Given the description of an element on the screen output the (x, y) to click on. 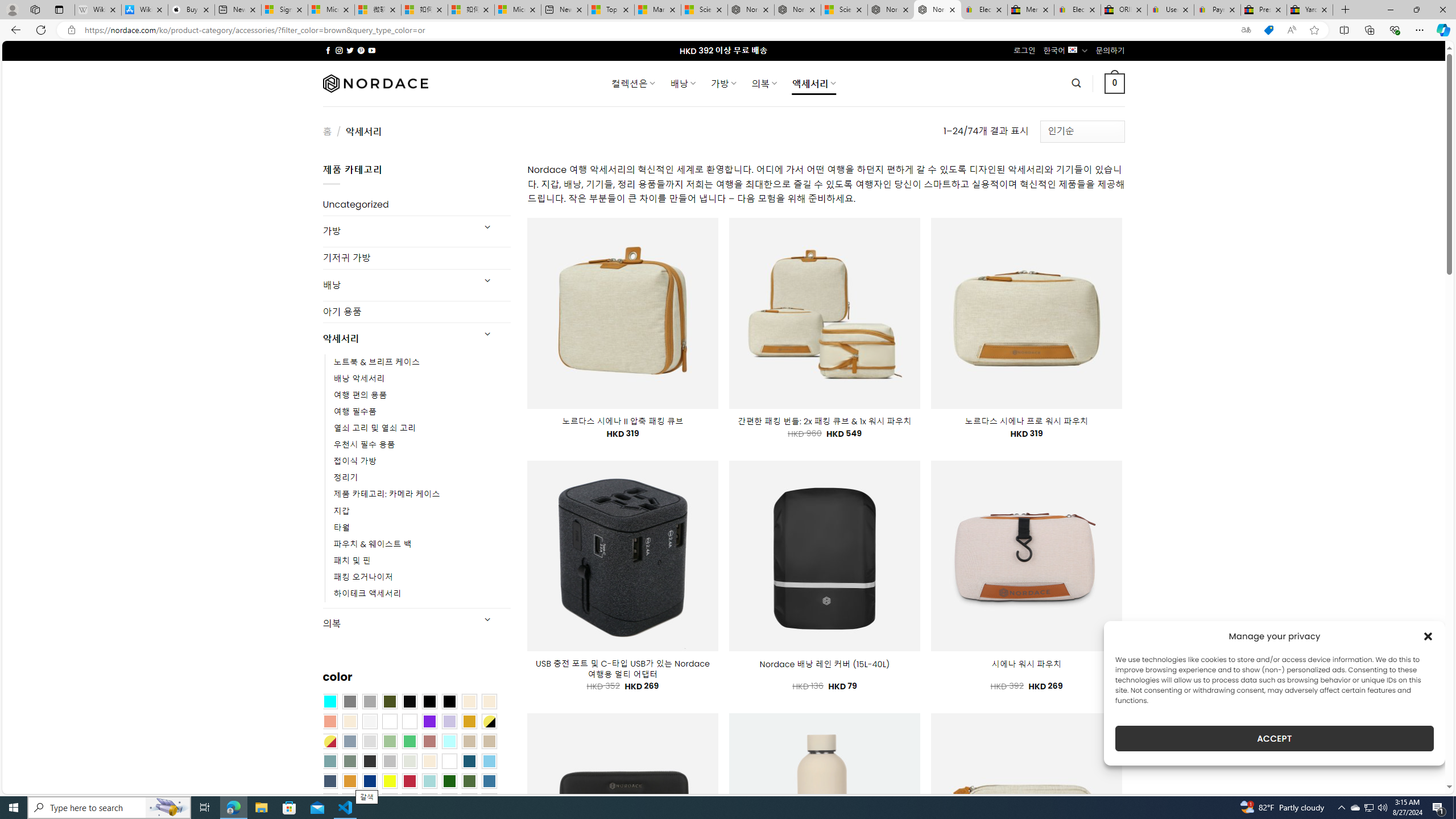
 0  (1115, 83)
Uncategorized (416, 204)
